Given the description of an element on the screen output the (x, y) to click on. 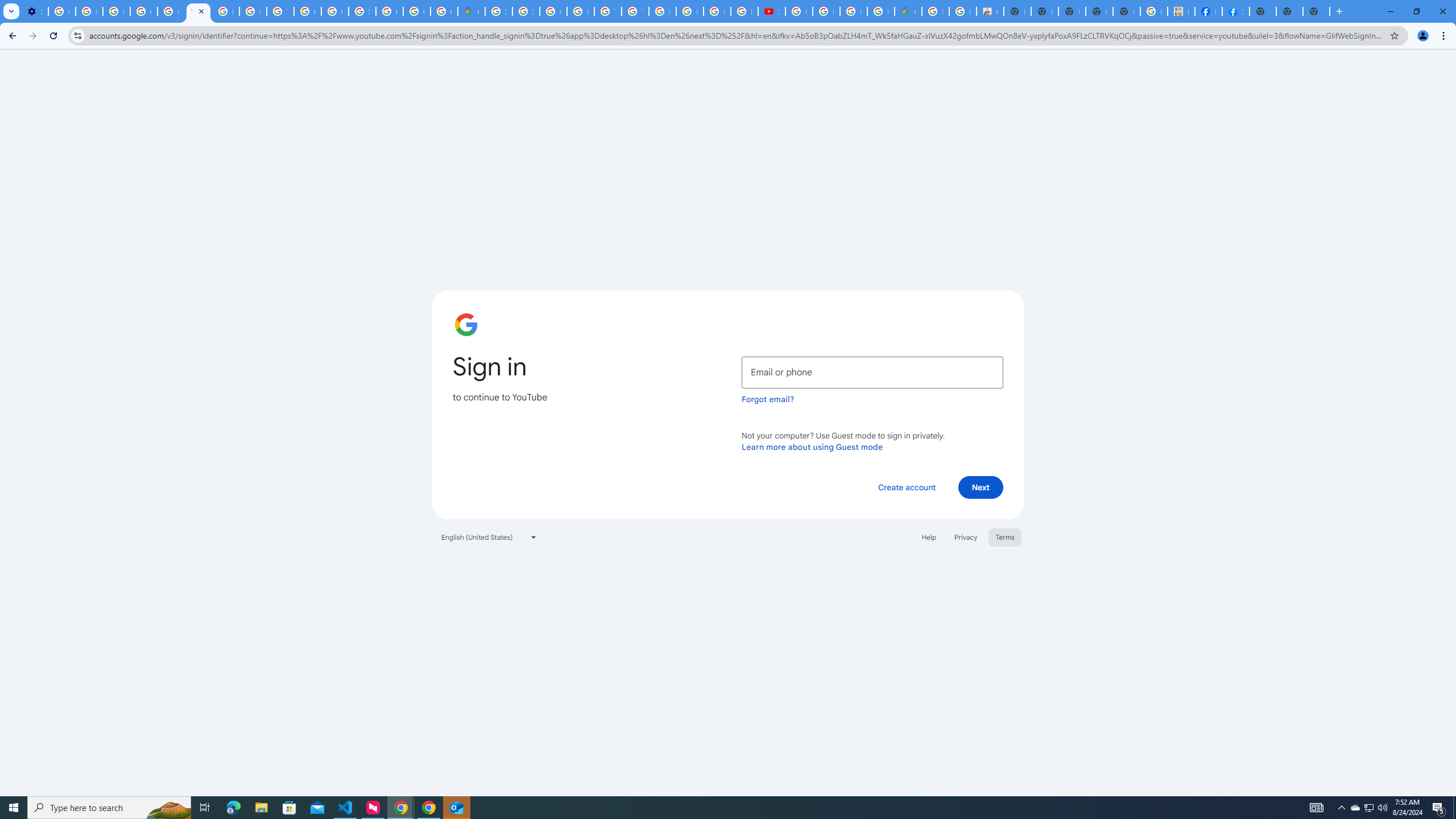
English (United States) (489, 536)
Google Maps (471, 11)
Privacy Help Center - Policies Help (253, 11)
How Chrome protects your passwords - Google Chrome Help (799, 11)
